Given the description of an element on the screen output the (x, y) to click on. 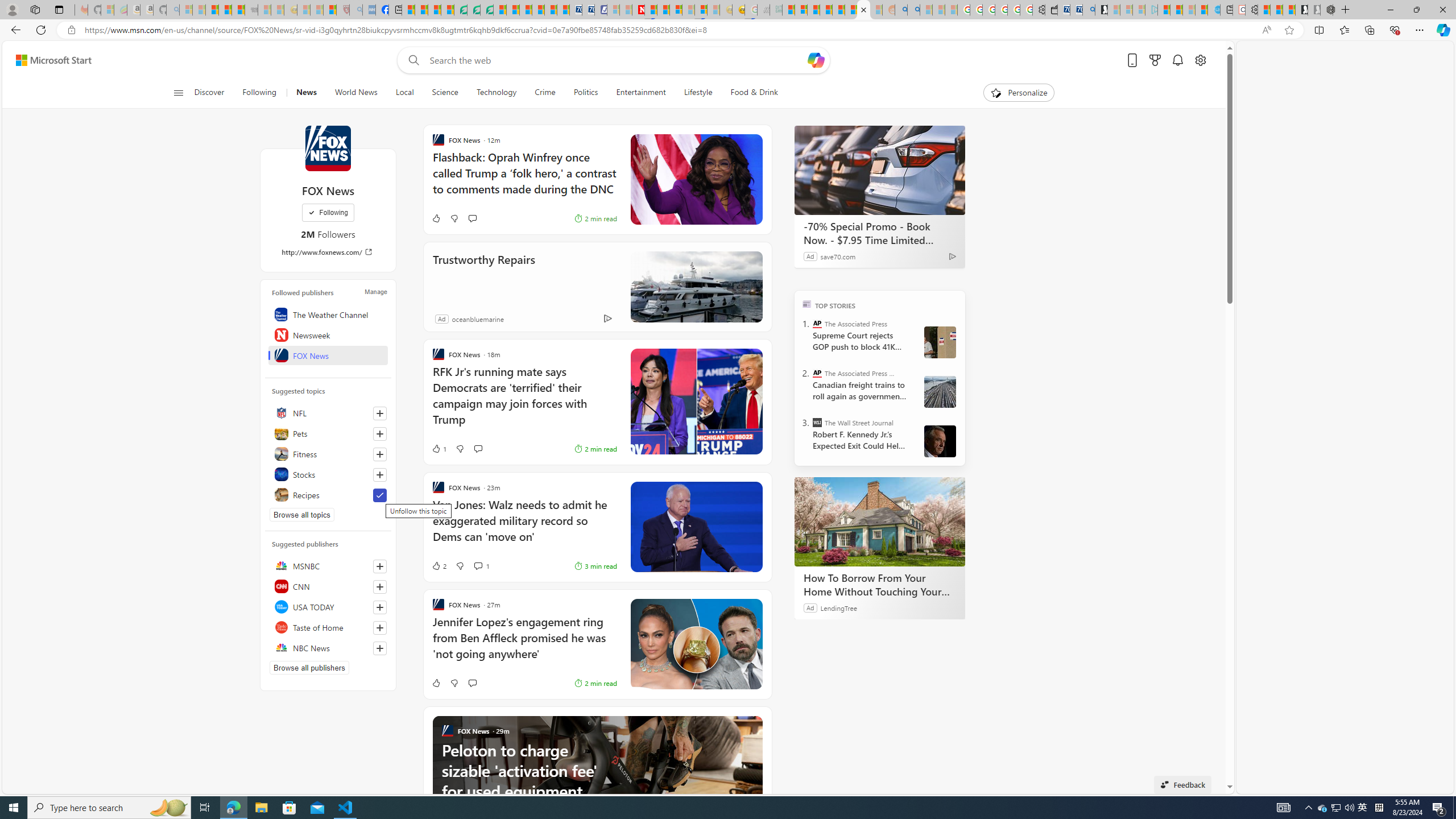
Student Loan Update: Forgiveness Program Ends This Month (826, 9)
Like (435, 682)
Stocks (327, 474)
Pets (327, 433)
The Associated Press (816, 323)
